Given the description of an element on the screen output the (x, y) to click on. 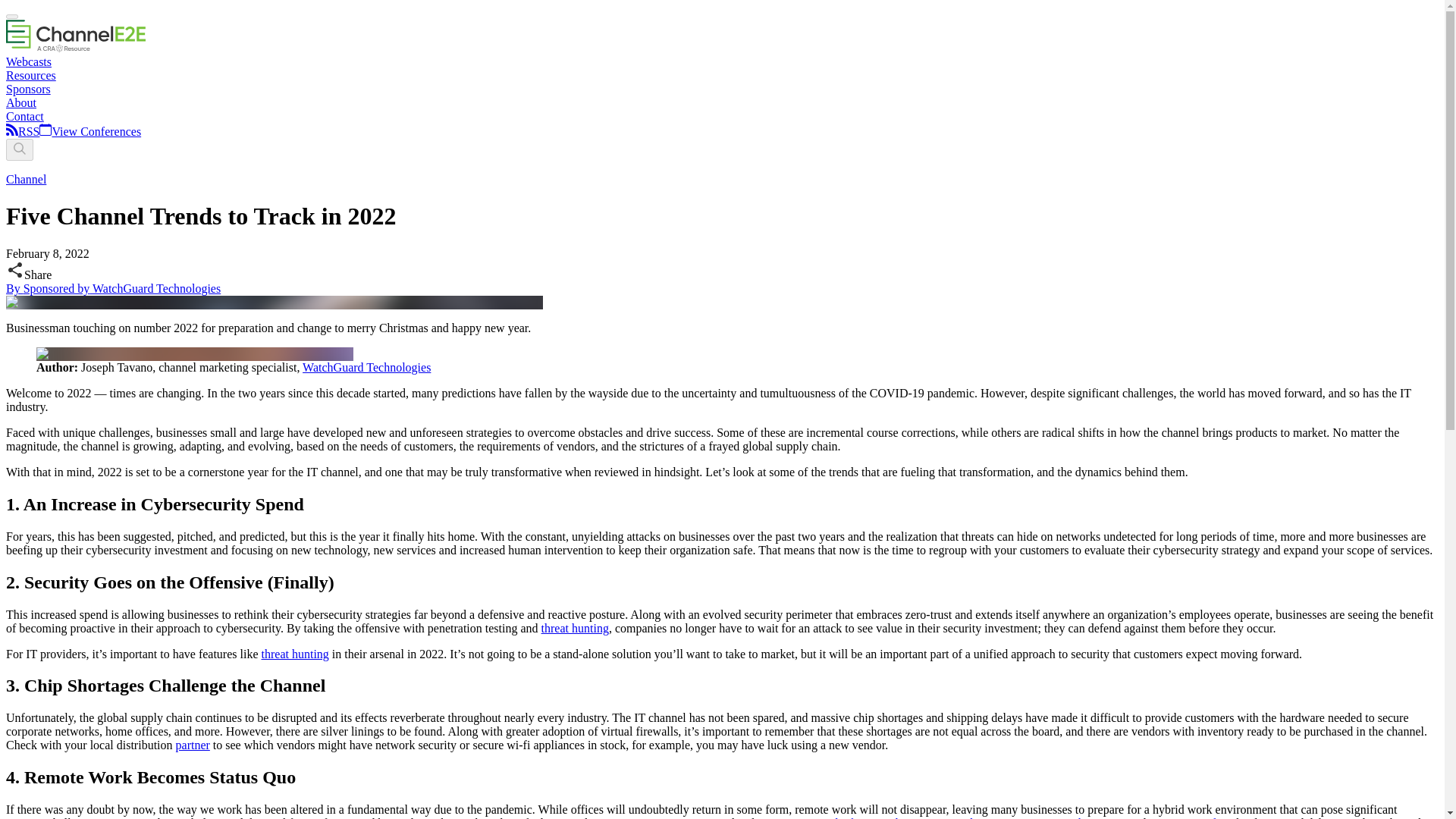
RSS Feed for ChannelE2E Latest Articles (11, 131)
security WiFfi (1185, 817)
WatchGuard Technologies (366, 367)
By Sponsored by WatchGuard Technologies (113, 287)
RSS (28, 131)
View Cybersecurity Conference Calendar (90, 131)
Contact (24, 115)
threat hunting (574, 627)
Resources (30, 74)
multi-factor authentication, (885, 817)
